Given the description of an element on the screen output the (x, y) to click on. 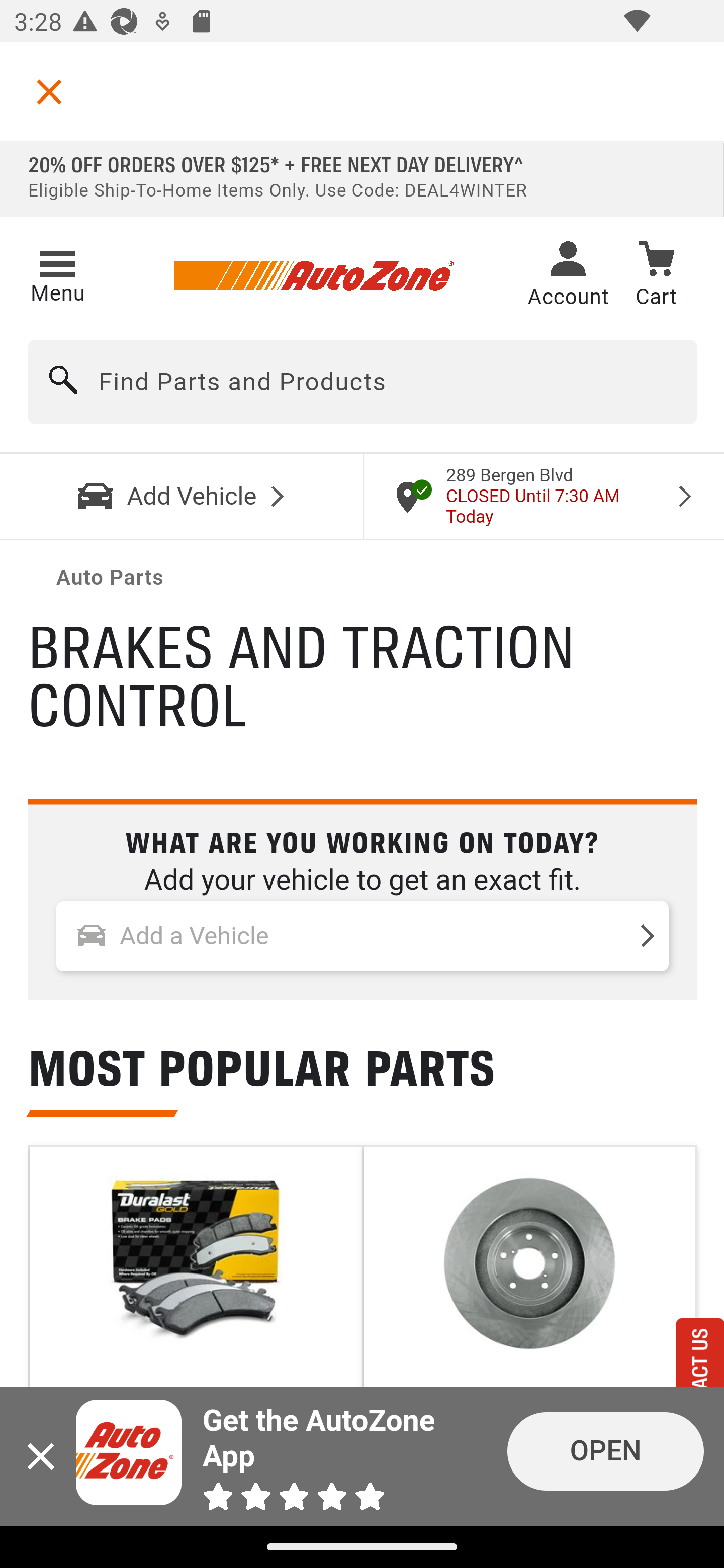
 (49, 91)
Menu (57, 273)
Account (567, 276)
AutoZone Logo (links to homepage) (312, 276)
shopping cart 0 items (655, 277)
Search (63, 382)
Add Vehicle (182, 495)
Auto Parts (110, 577)
Add a Vehicle expand (363, 936)
Brake Pads (194, 1342)
Brake Rotor (529, 1342)
Close icon Get the AutoZone App OPEN (362, 1456)
